Given the description of an element on the screen output the (x, y) to click on. 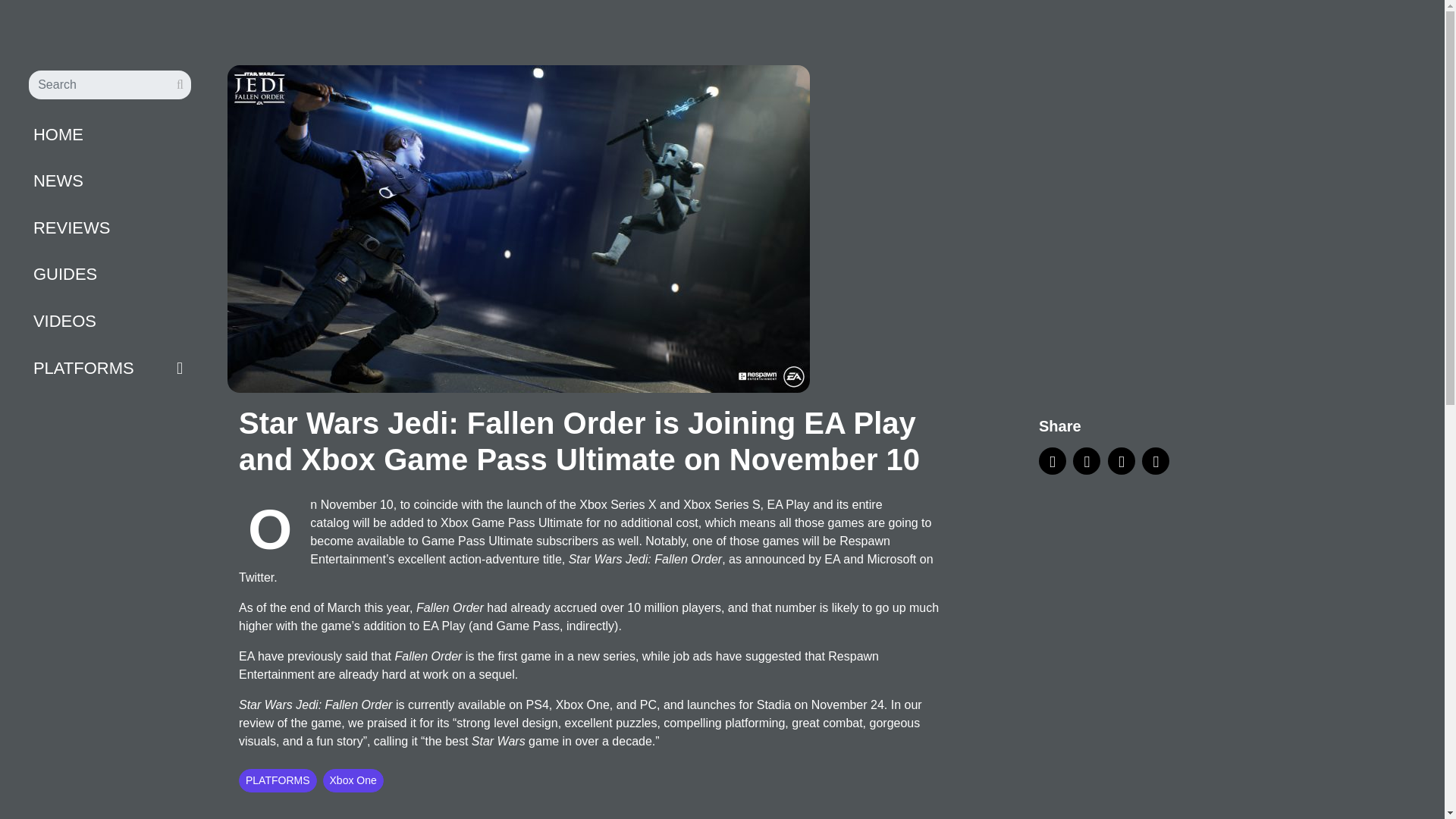
VIDEOS (109, 320)
HOME (109, 134)
GUIDES (109, 273)
REVIEWS (109, 227)
NEWS (109, 180)
PLATFORMS (83, 367)
